Given the description of an element on the screen output the (x, y) to click on. 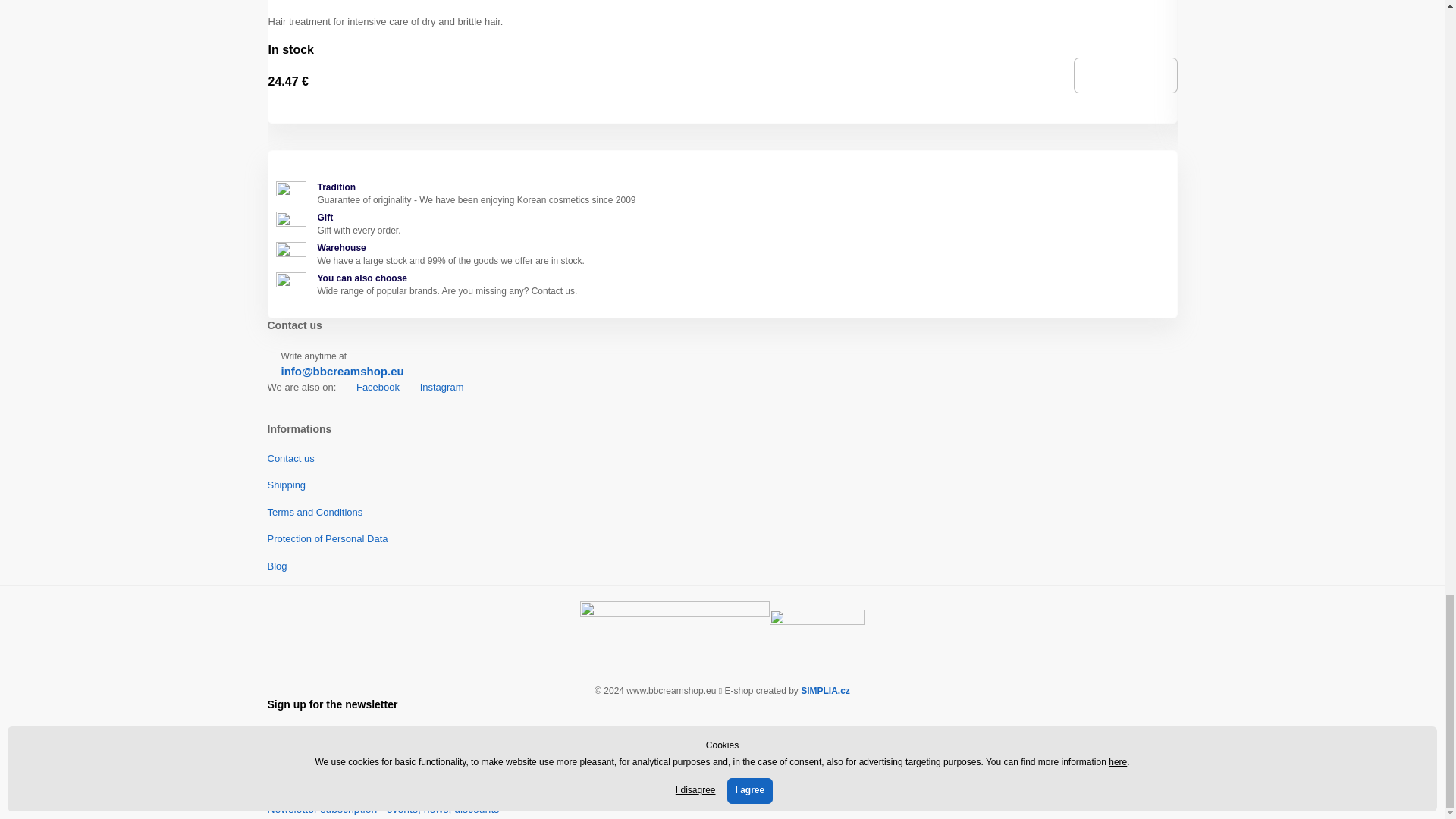
Add to Favourites (715, 113)
Remove from comparison (729, 113)
Into the cart (1125, 75)
